Given the description of an element on the screen output the (x, y) to click on. 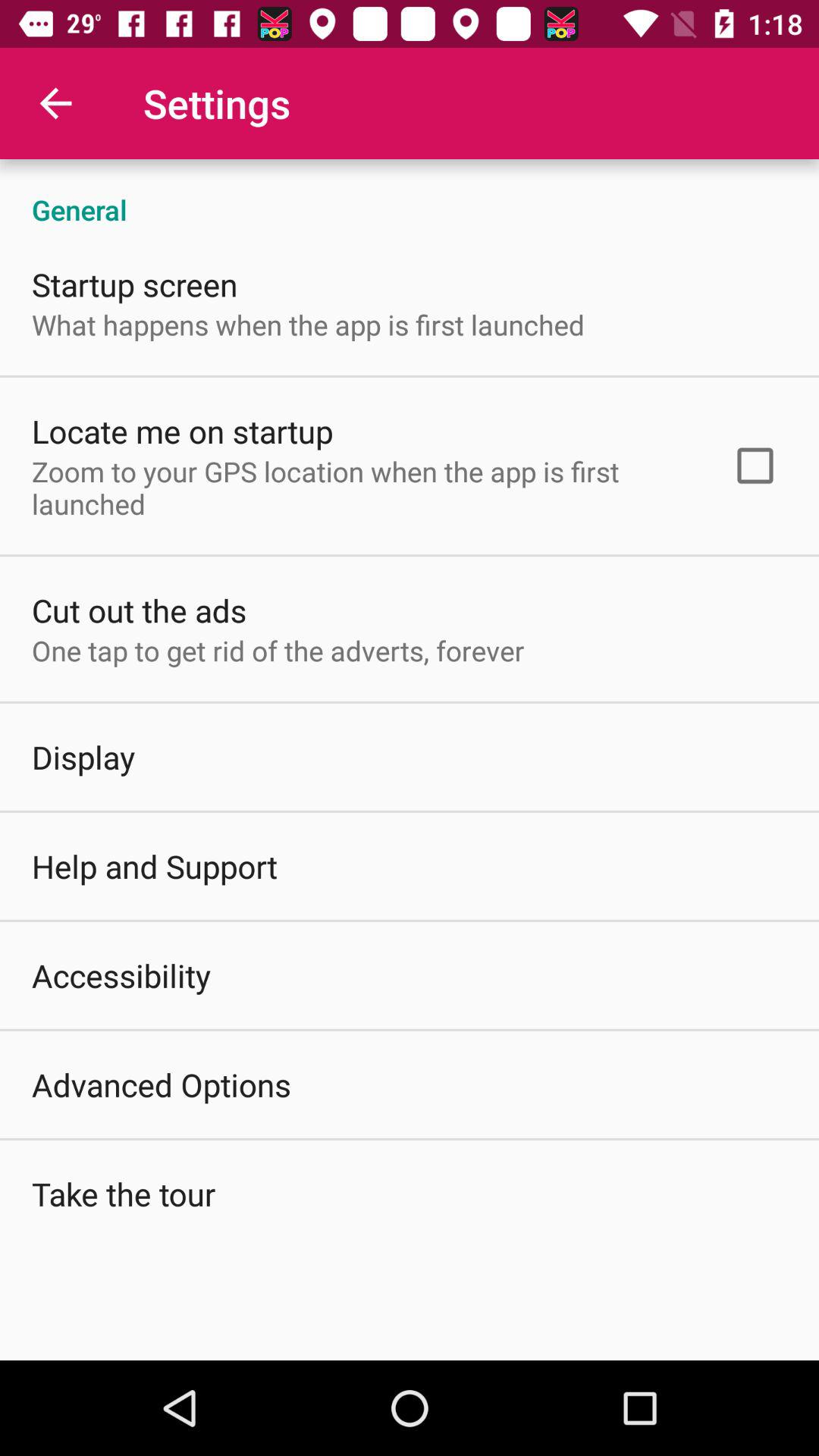
swipe to the zoom to your (361, 487)
